Given the description of an element on the screen output the (x, y) to click on. 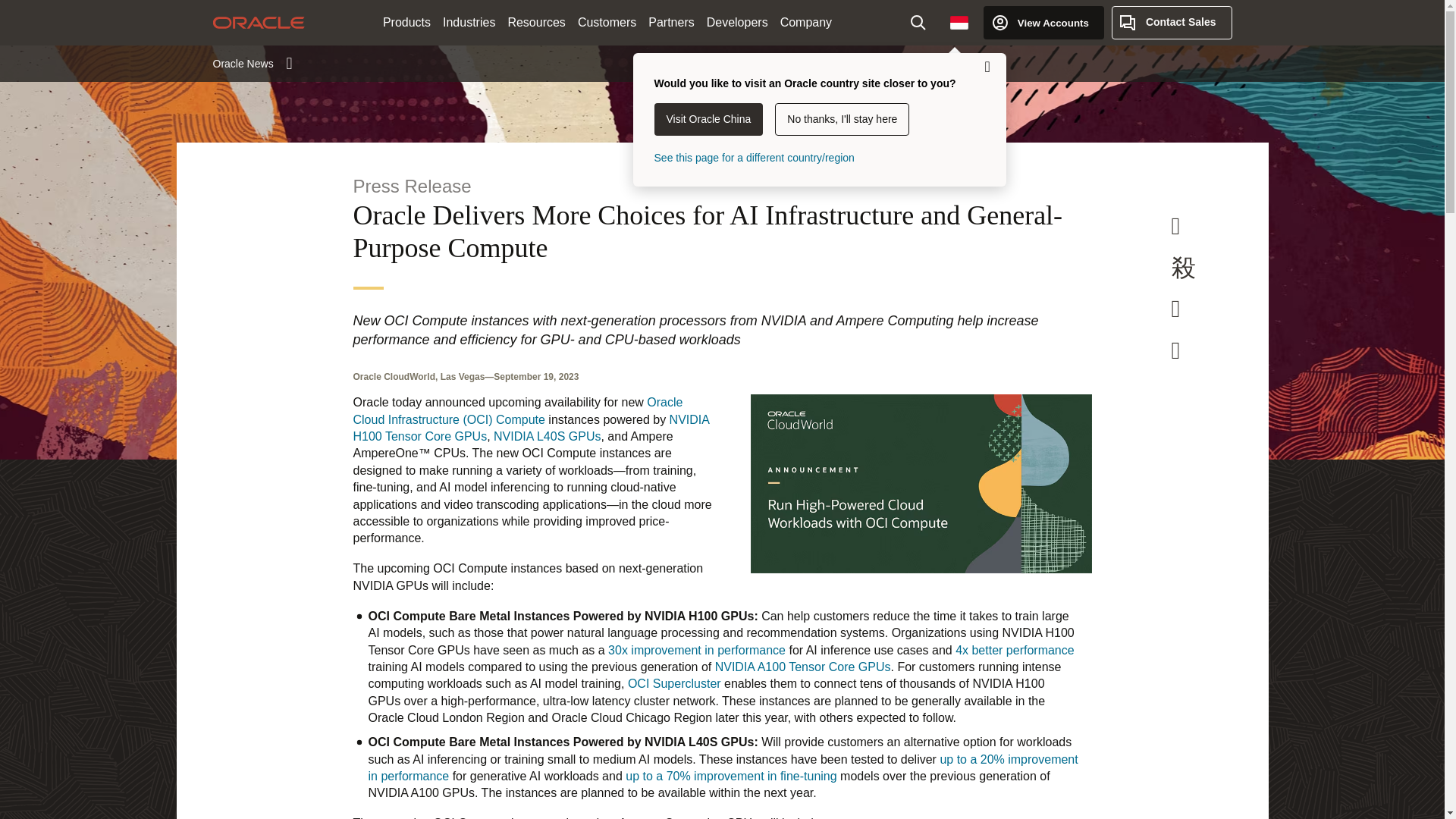
Contact Sales (1171, 22)
Contact Sales (1171, 22)
Country (958, 22)
Developers (737, 22)
Partners (671, 22)
Customers (607, 22)
Industries (468, 22)
Resources (535, 22)
Oracle News (252, 63)
No thanks, I'll stay here (841, 119)
Visit Oracle China (707, 119)
Company (806, 22)
Products (406, 22)
View Accounts (1043, 22)
